Given the description of an element on the screen output the (x, y) to click on. 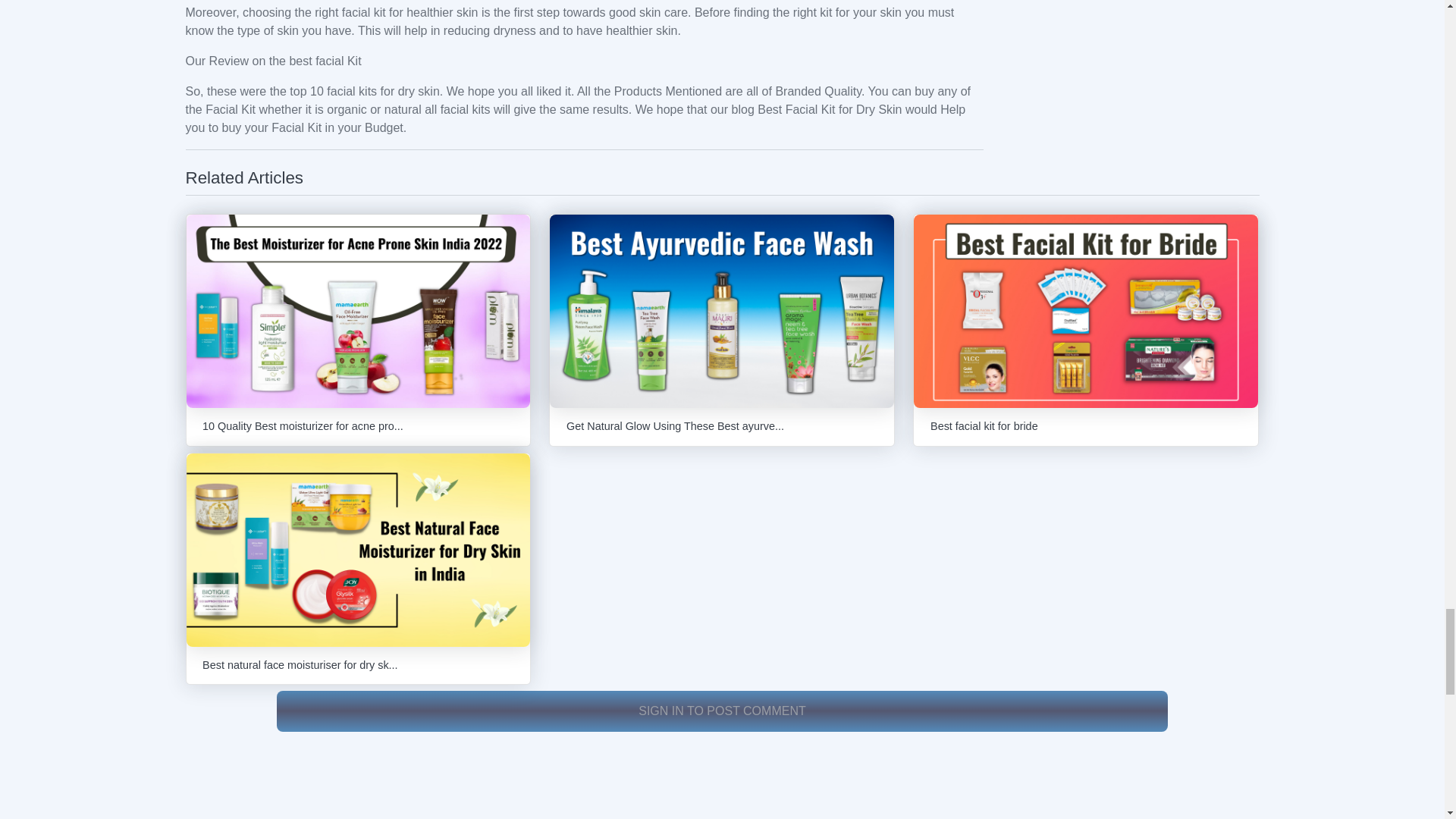
Best natural face moisturiser for dry sk... (357, 568)
SIGN IN TO POST COMMENT (721, 709)
Get Natural Glow Using These Best ayurve... (721, 329)
SIGN IN TO POST COMMENT (721, 711)
Best facial kit for bride (1085, 329)
10 Quality Best moisturizer for acne pro... (357, 329)
